Given the description of an element on the screen output the (x, y) to click on. 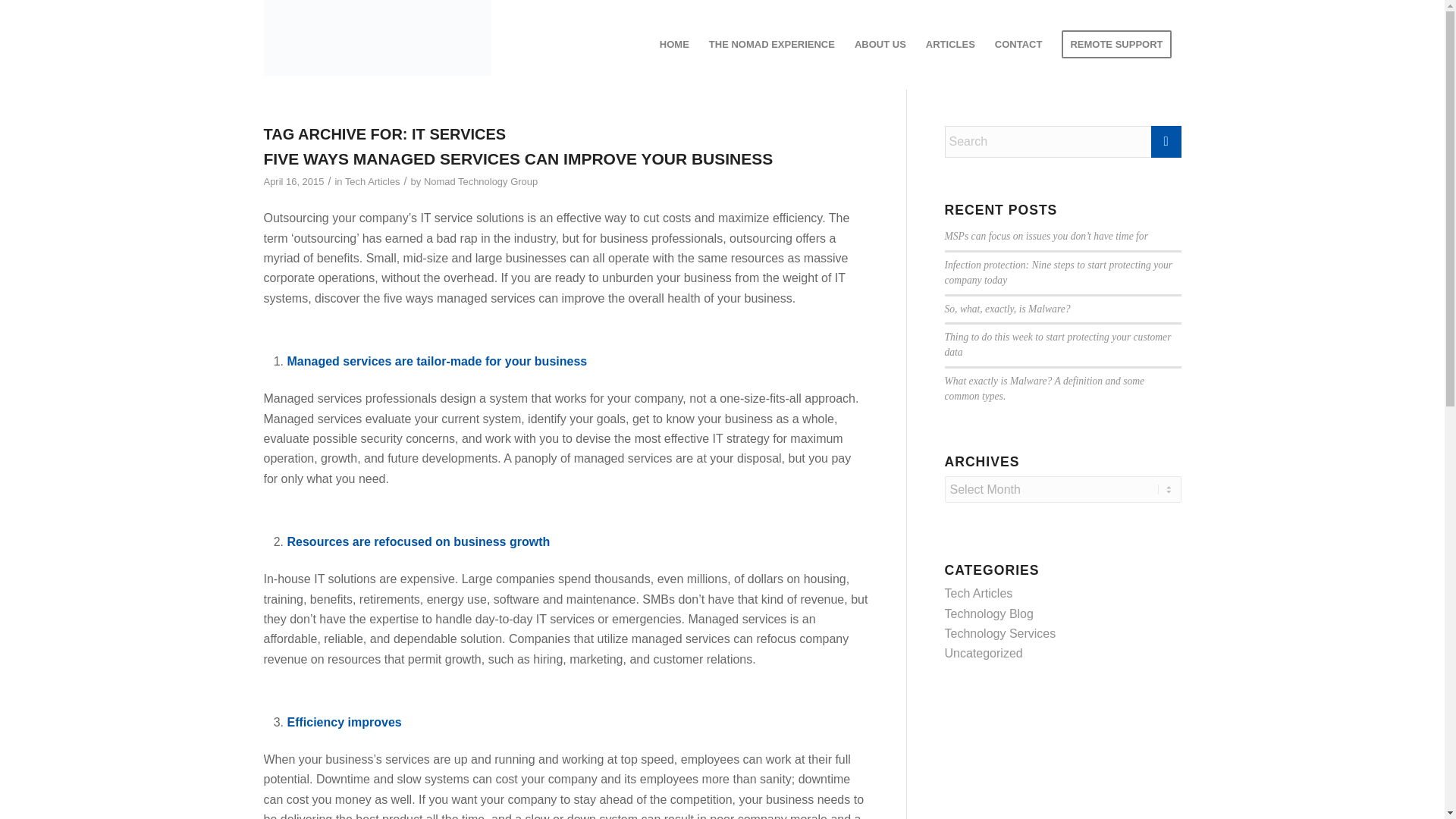
REMOTE SUPPORT (1115, 44)
FIVE WAYS MANAGED SERVICES CAN IMPROVE YOUR BUSINESS (518, 158)
Nomad Technology Group (480, 181)
Click to start search (1165, 142)
Tech Articles (978, 593)
Technology Blog (988, 613)
Thing to do this week to start protecting your customer data (1058, 344)
Nomad-logo-color (377, 38)
ARTICLES (950, 44)
HOME (673, 44)
Nomad-logo-color (377, 44)
What exactly is Malware? A definition and some common types. (1044, 388)
Posts by Nomad Technology Group (480, 181)
